Given the description of an element on the screen output the (x, y) to click on. 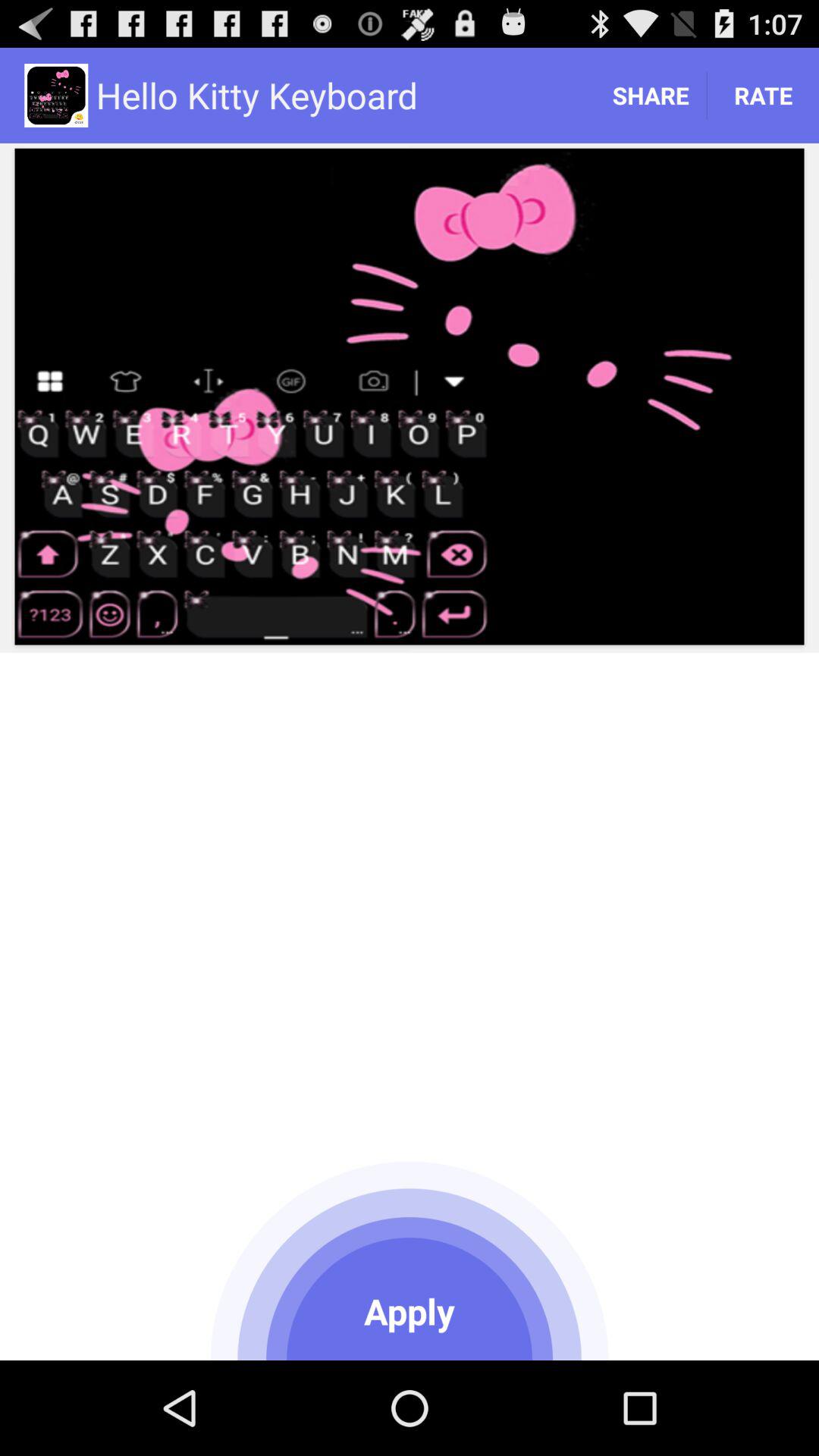
turn off the app to the right of hello kitty keyboard (650, 95)
